Given the description of an element on the screen output the (x, y) to click on. 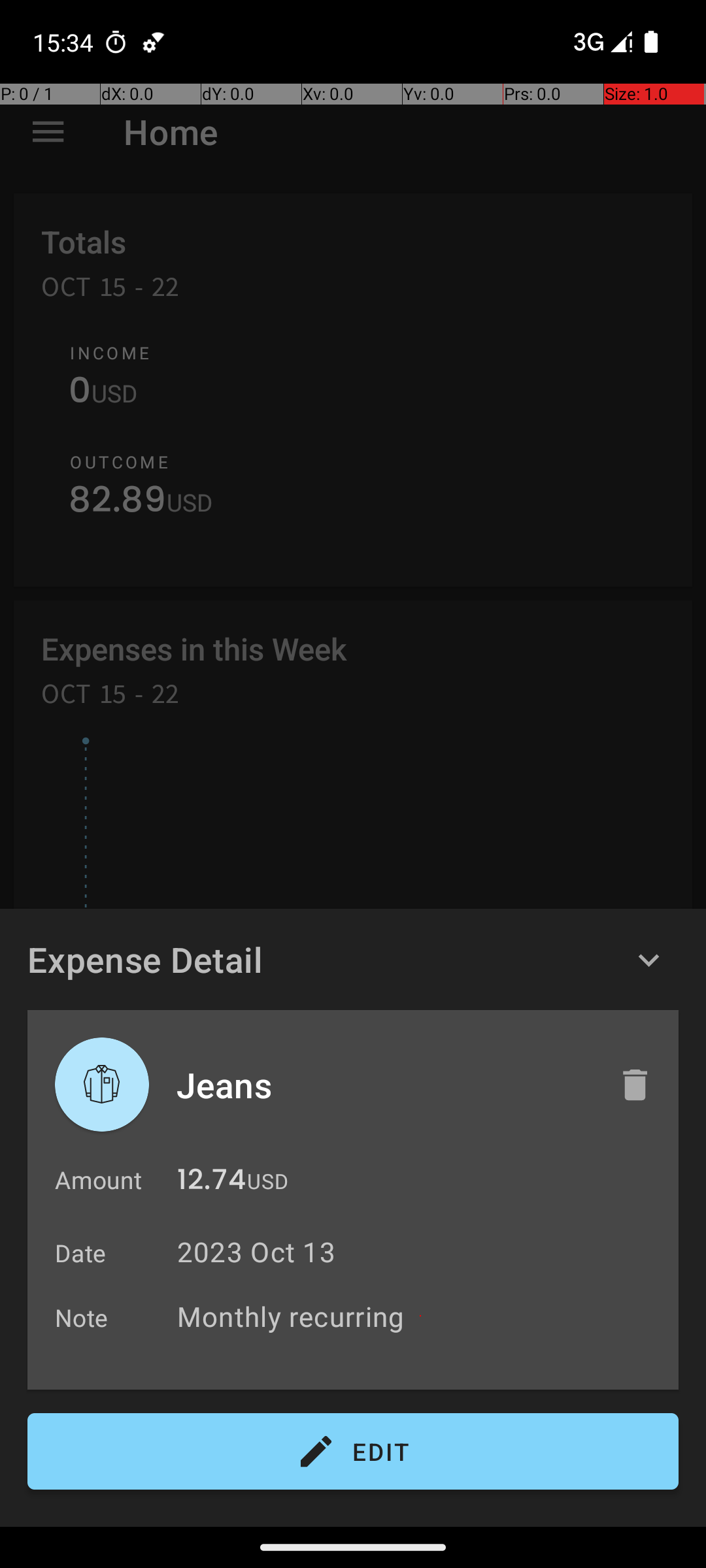
Jeans Element type: android.widget.TextView (383, 1084)
12.74 Element type: android.widget.TextView (211, 1182)
